Given the description of an element on the screen output the (x, y) to click on. 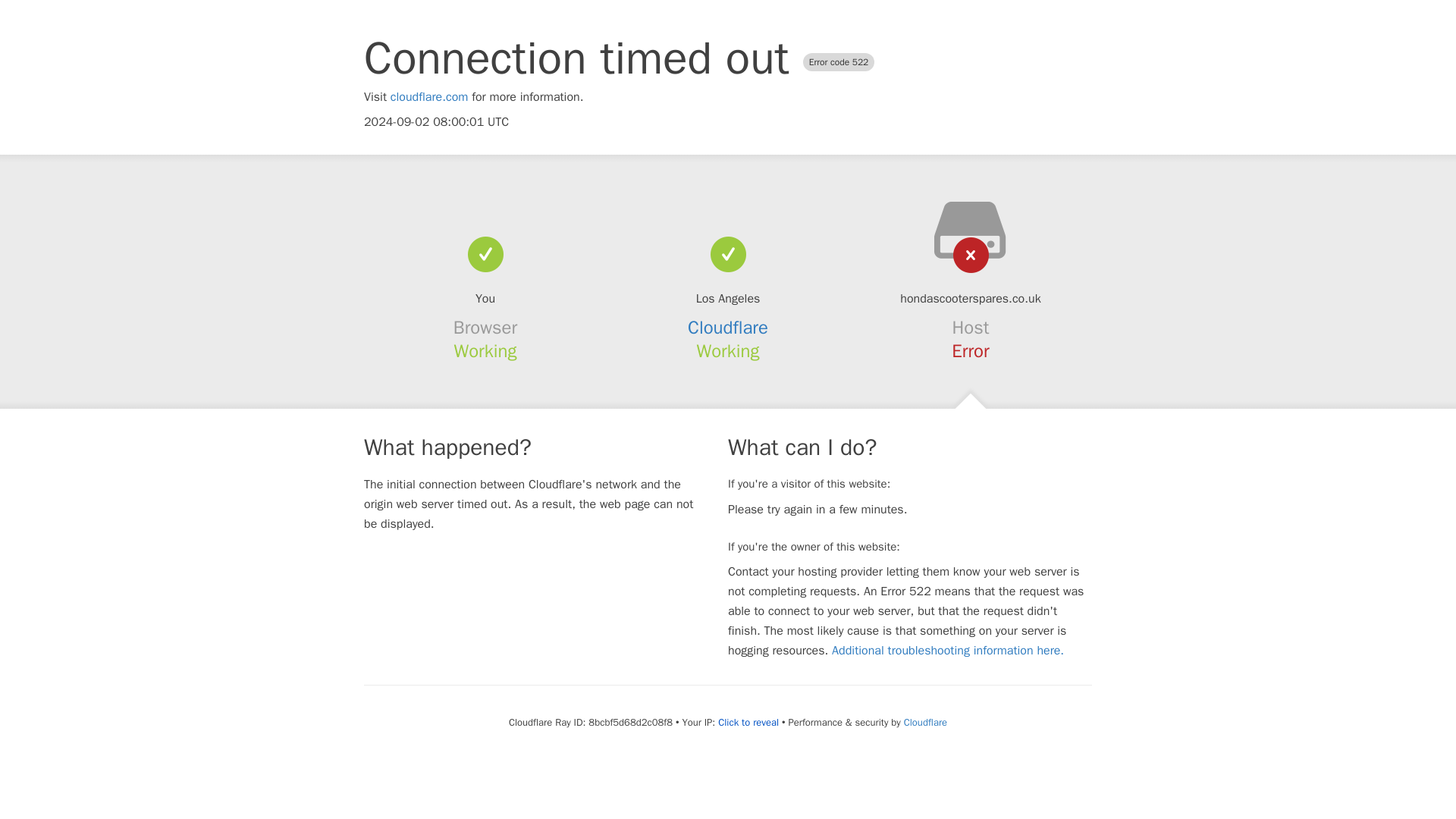
Cloudflare (925, 721)
Additional troubleshooting information here. (947, 650)
Click to reveal (747, 722)
Cloudflare (727, 327)
cloudflare.com (429, 96)
